Given the description of an element on the screen output the (x, y) to click on. 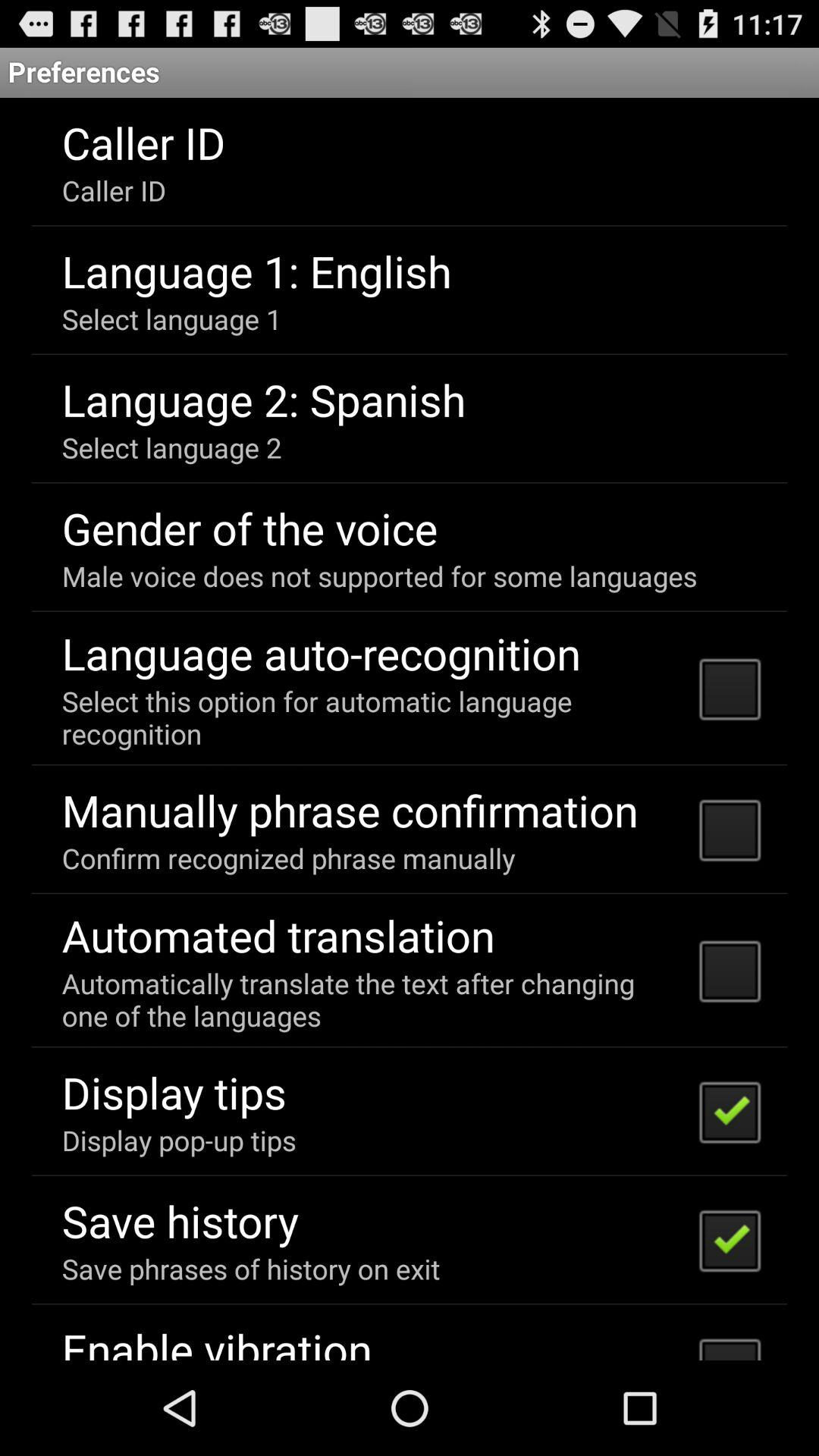
main menu (409, 728)
